Given the description of an element on the screen output the (x, y) to click on. 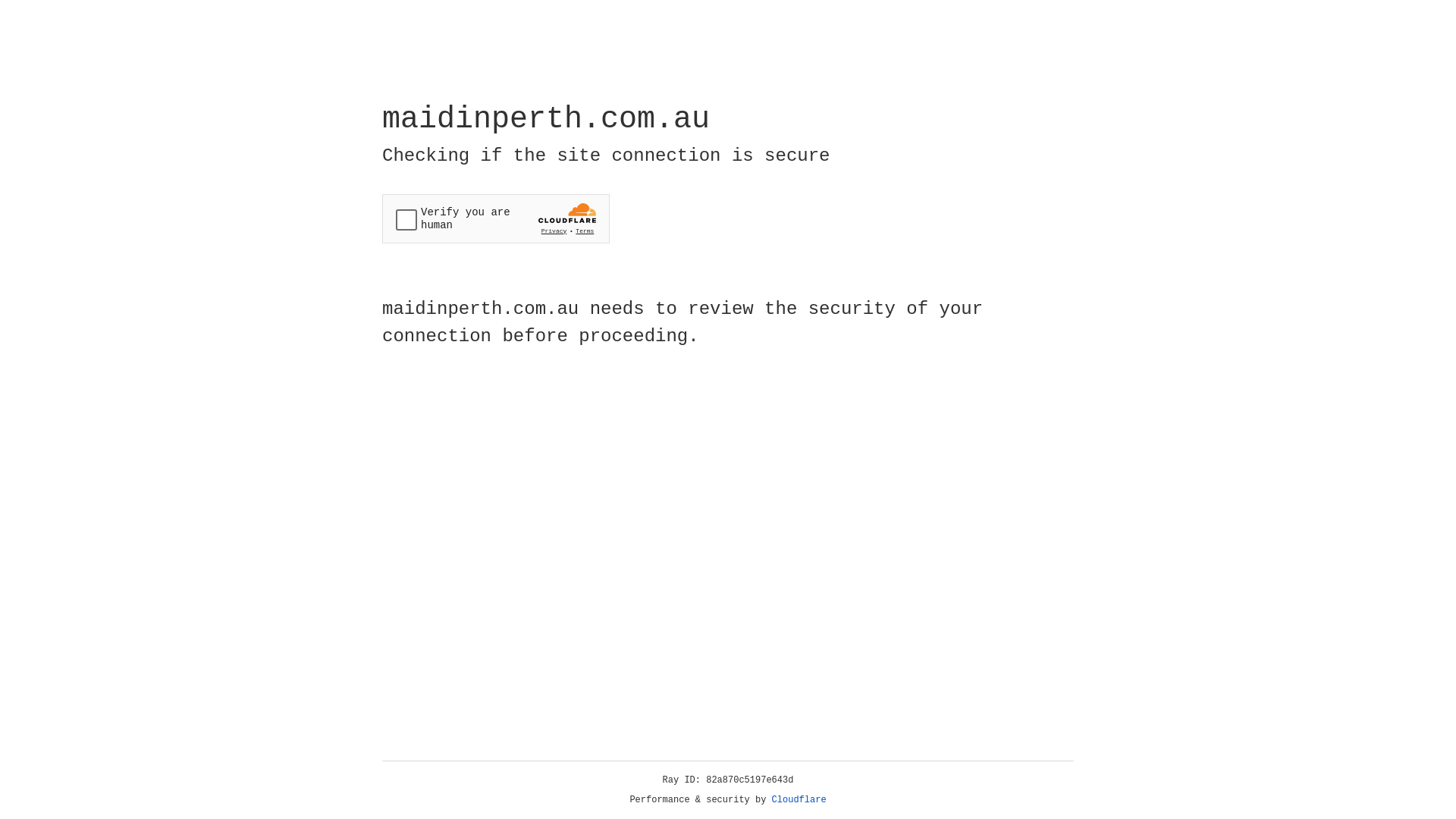
Widget containing a Cloudflare security challenge Element type: hover (495, 218)
Cloudflare Element type: text (798, 799)
